Given the description of an element on the screen output the (x, y) to click on. 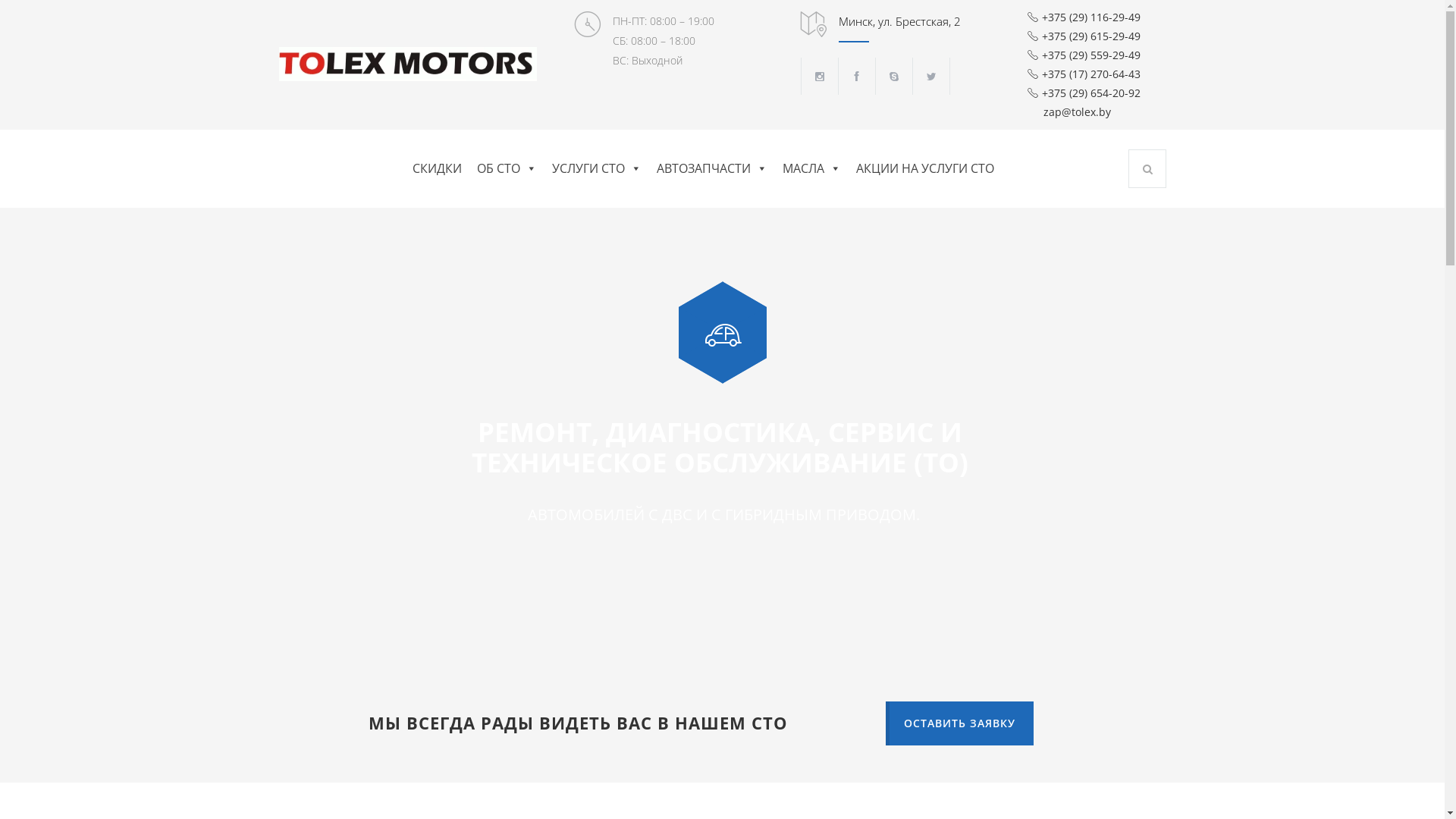
zap@tolex.by Element type: text (1096, 112)
+375 (17) 270-64-43 Element type: text (1083, 73)
+375 (29) 615-29-49 Element type: text (1083, 35)
+375 (29) 116-29-49 Element type: text (1083, 16)
+375 (29) 654-20-92 Element type: text (1083, 92)
+375 (29) 559-29-49 Element type: text (1083, 54)
